Given the description of an element on the screen output the (x, y) to click on. 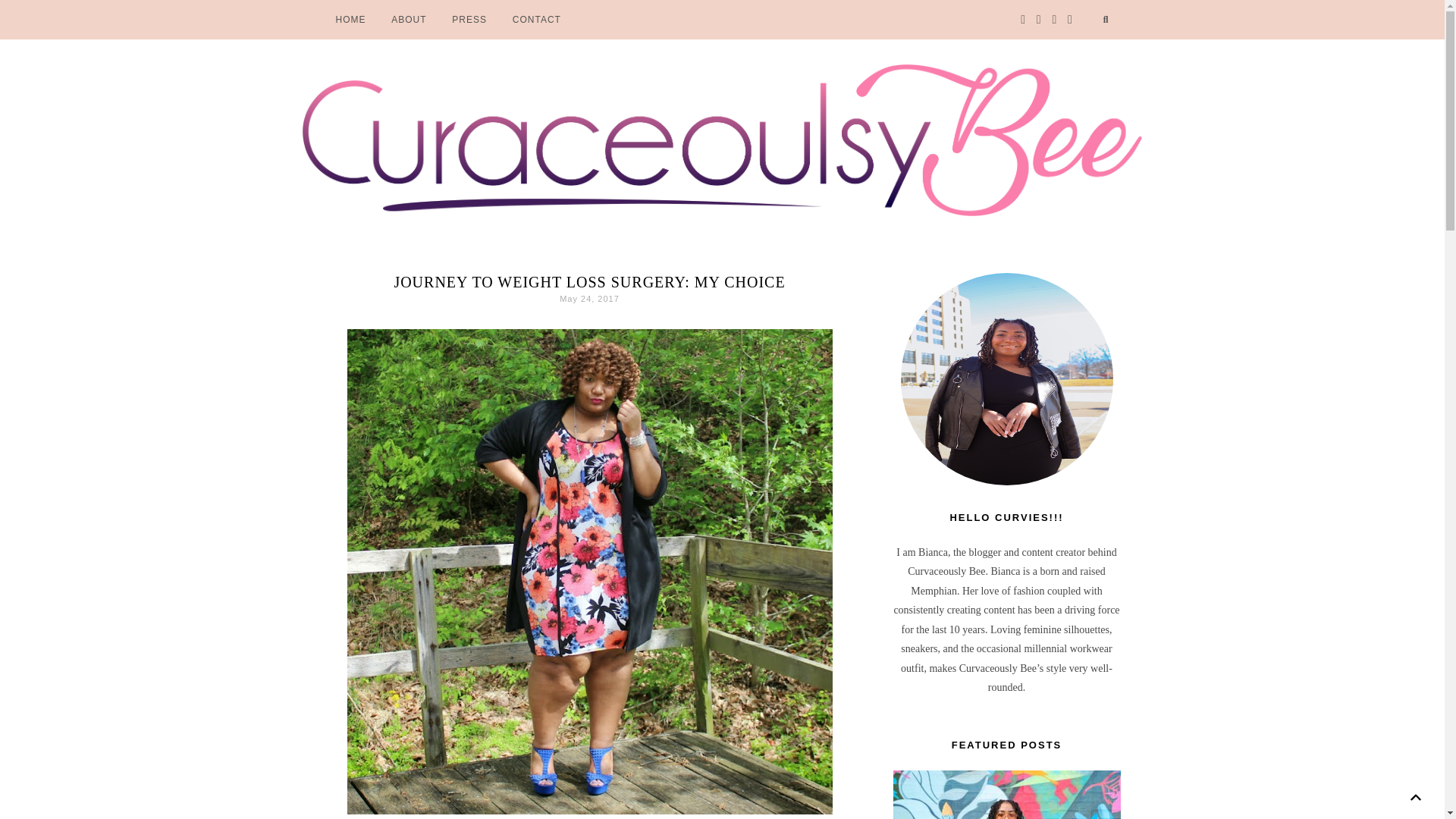
CONTACT (536, 19)
ABOUT (409, 19)
HOME (350, 19)
PRESS (469, 19)
